Given the description of an element on the screen output the (x, y) to click on. 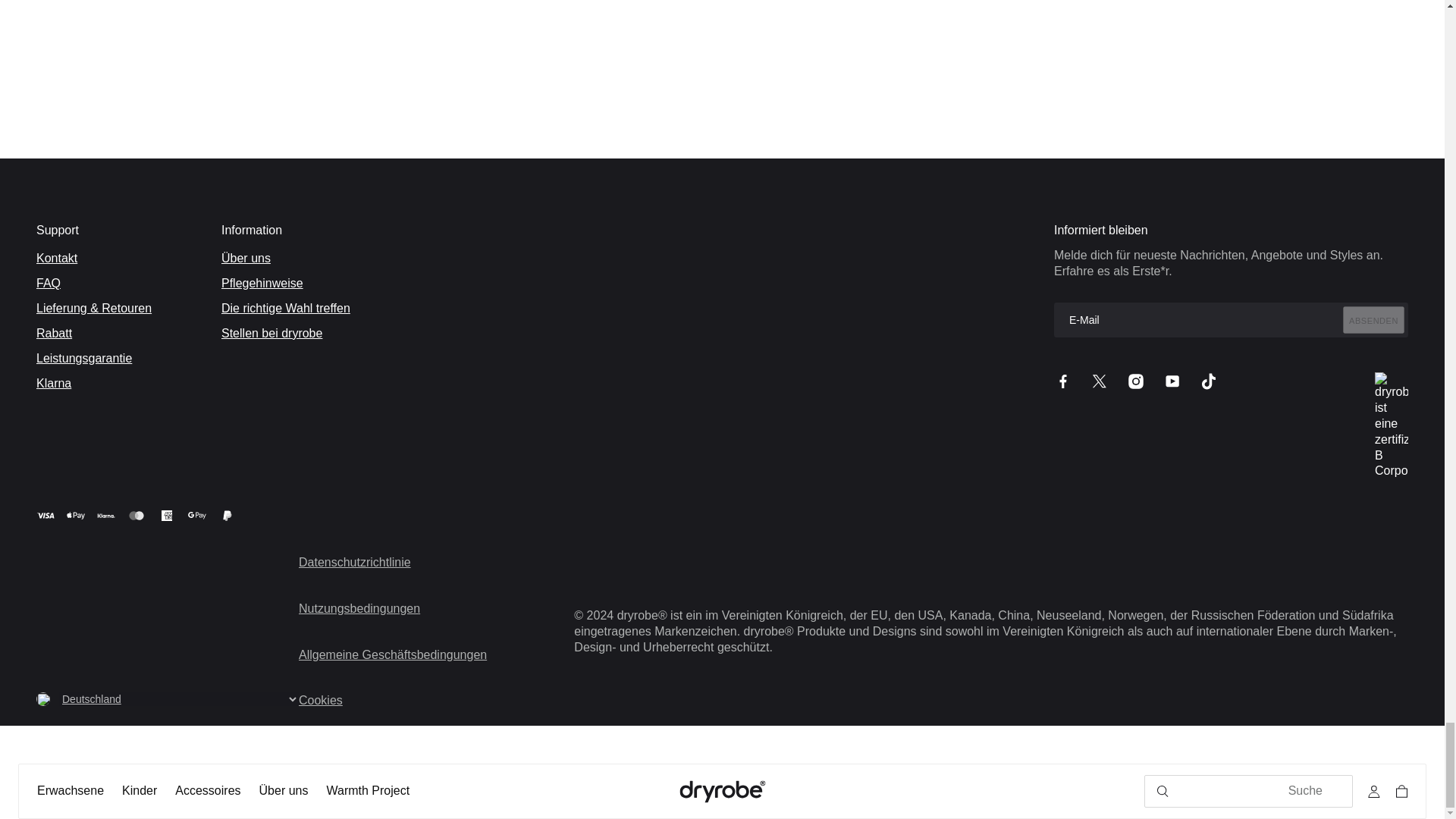
Kinder (139, 790)
dryrobe (722, 791)
dryrobe on facebook (1062, 381)
apple-pay (75, 515)
Warmth Project (367, 790)
klarna (106, 515)
Warenkorb umschalten (1398, 791)
dryrobe on twitter (1099, 381)
paypal (226, 515)
dryrobe on youtube (1171, 381)
dryrobe on instagram (1135, 381)
Konto (1374, 791)
visa (45, 515)
google-pay (196, 515)
mastercard (136, 515)
